Given the description of an element on the screen output the (x, y) to click on. 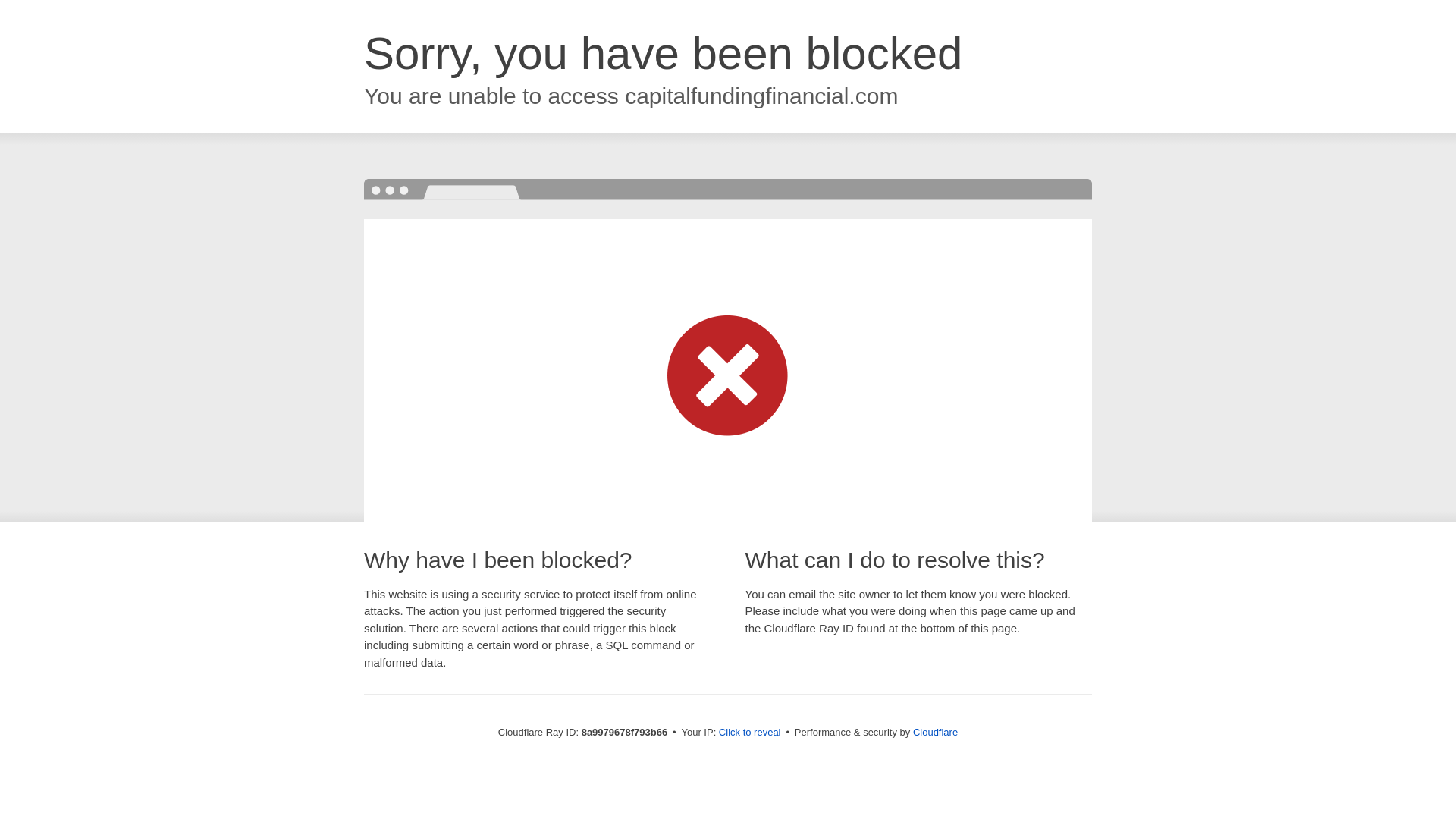
Cloudflare (935, 731)
Click to reveal (749, 732)
